Given the description of an element on the screen output the (x, y) to click on. 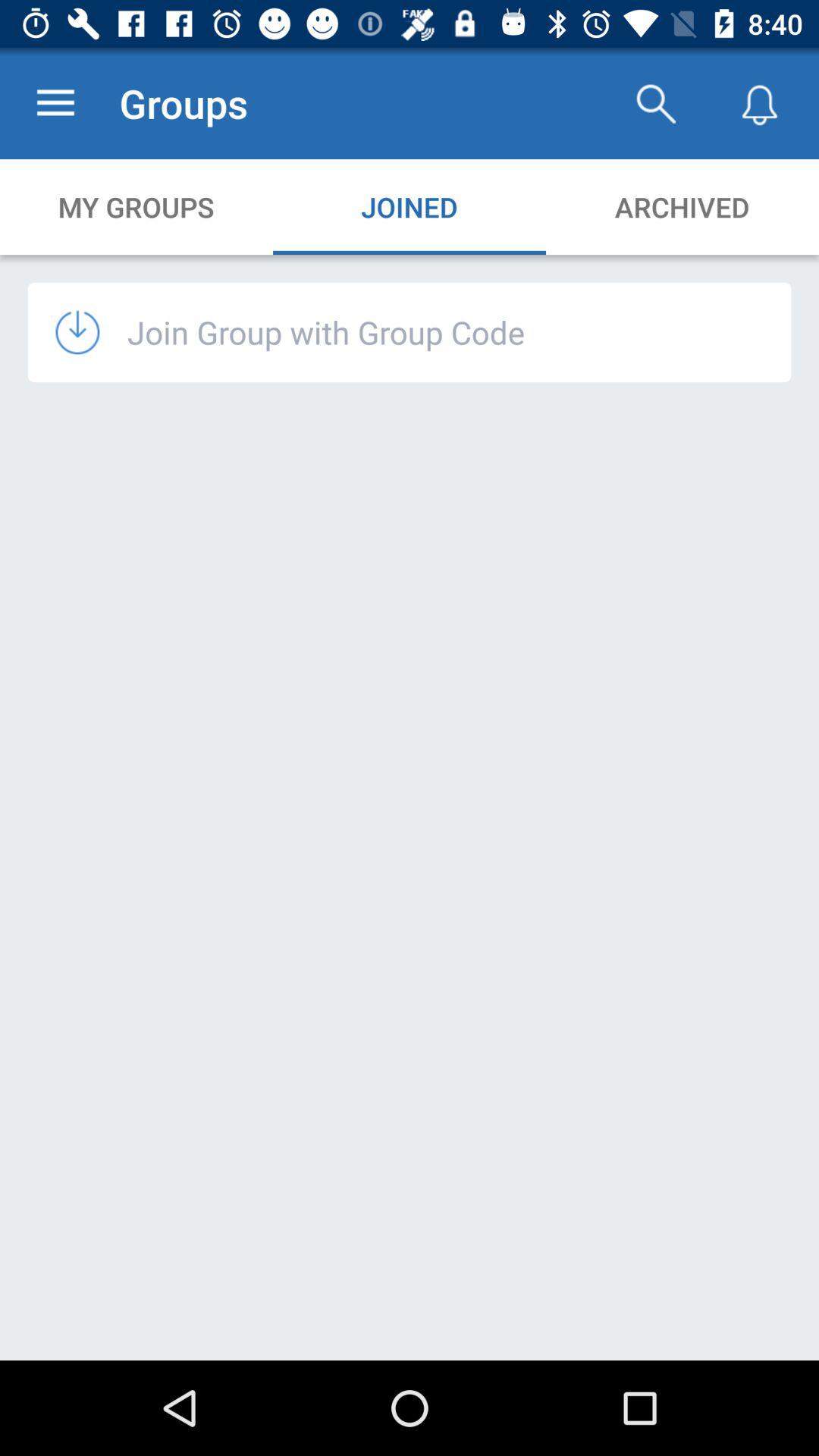
turn off item above the archived (655, 103)
